Given the description of an element on the screen output the (x, y) to click on. 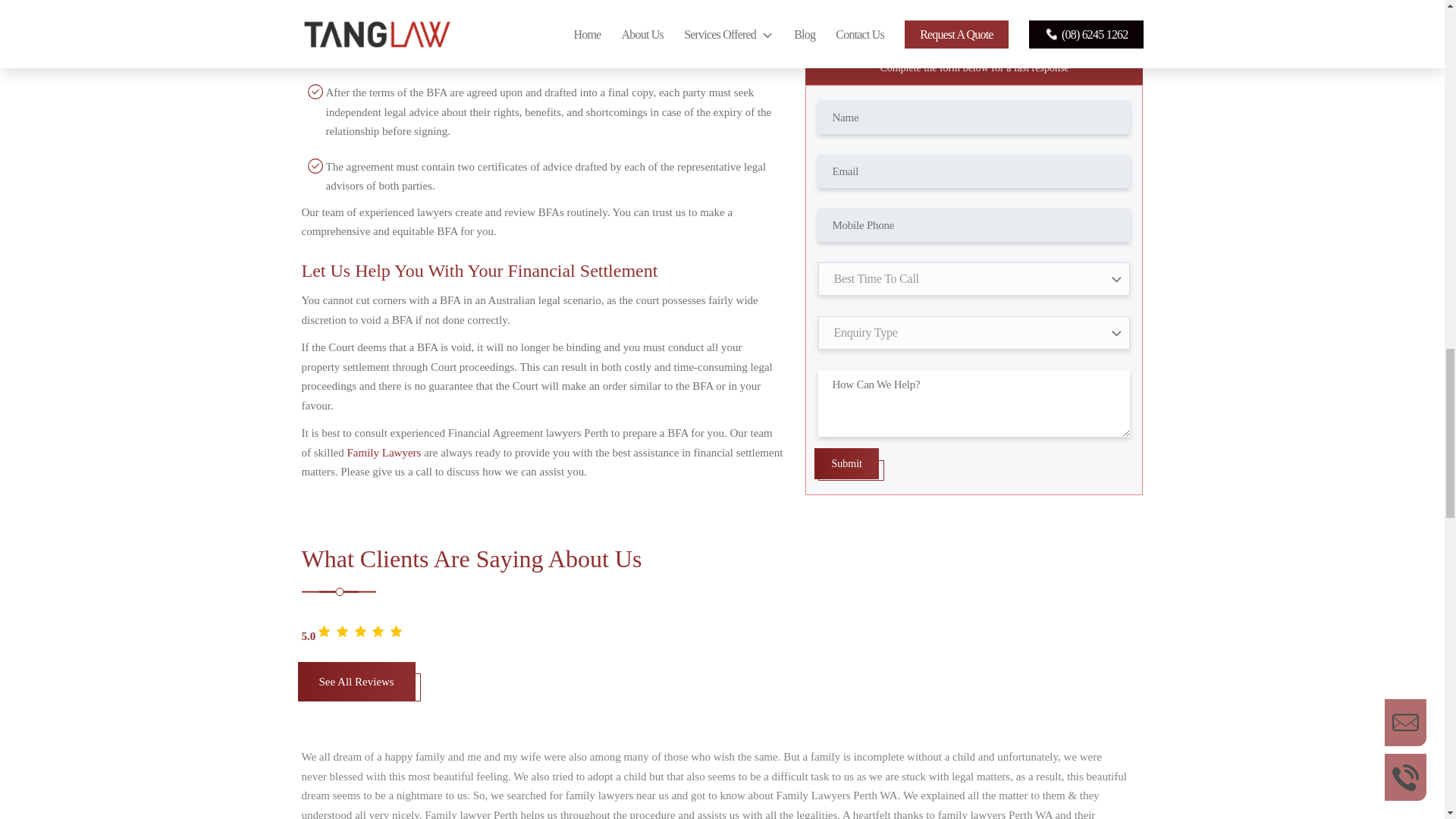
Family Lawyers (384, 452)
See All Reviews (360, 689)
See All Reviews (355, 681)
